Given the description of an element on the screen output the (x, y) to click on. 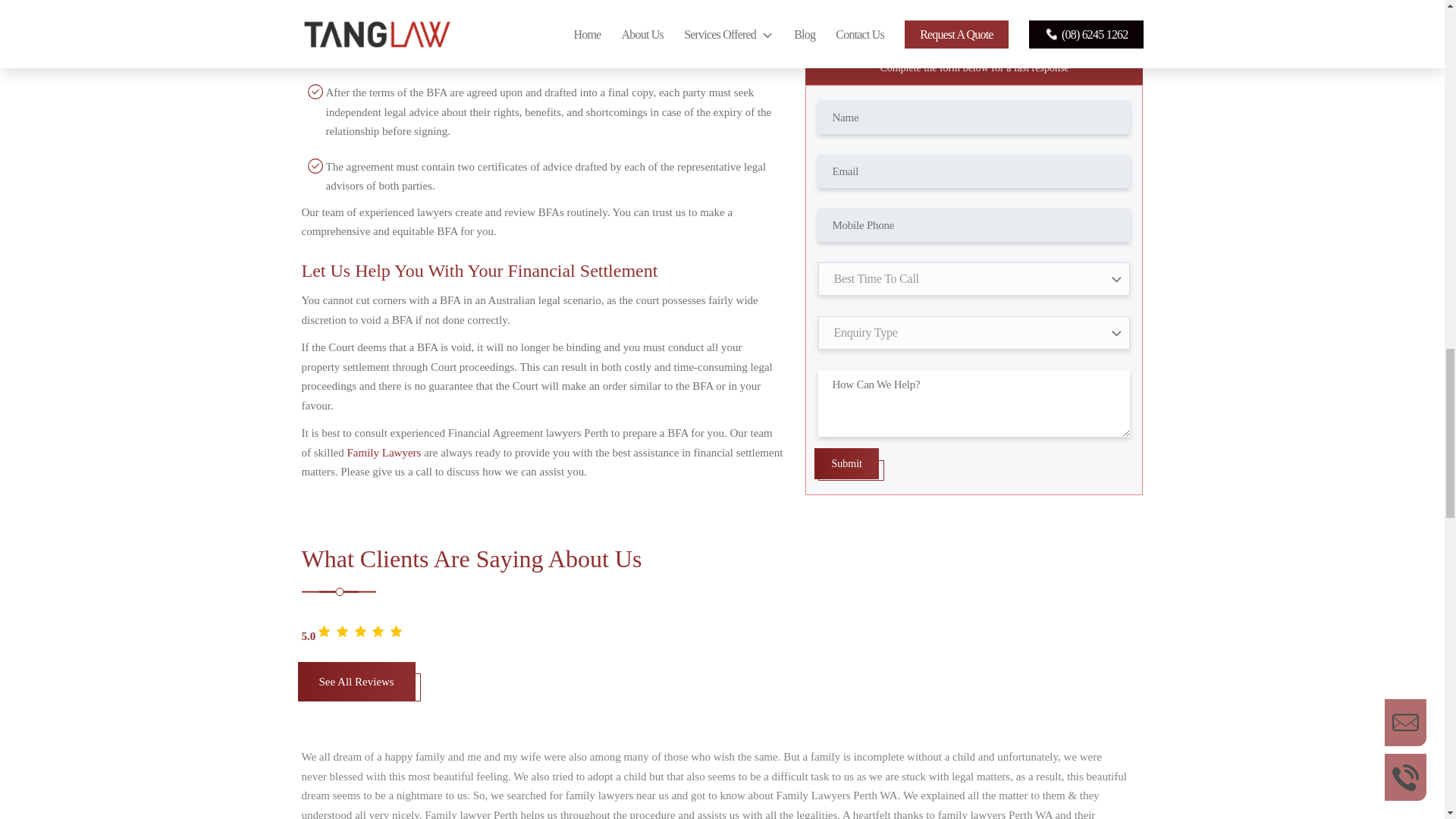
Family Lawyers (384, 452)
See All Reviews (360, 689)
See All Reviews (355, 681)
